Given the description of an element on the screen output the (x, y) to click on. 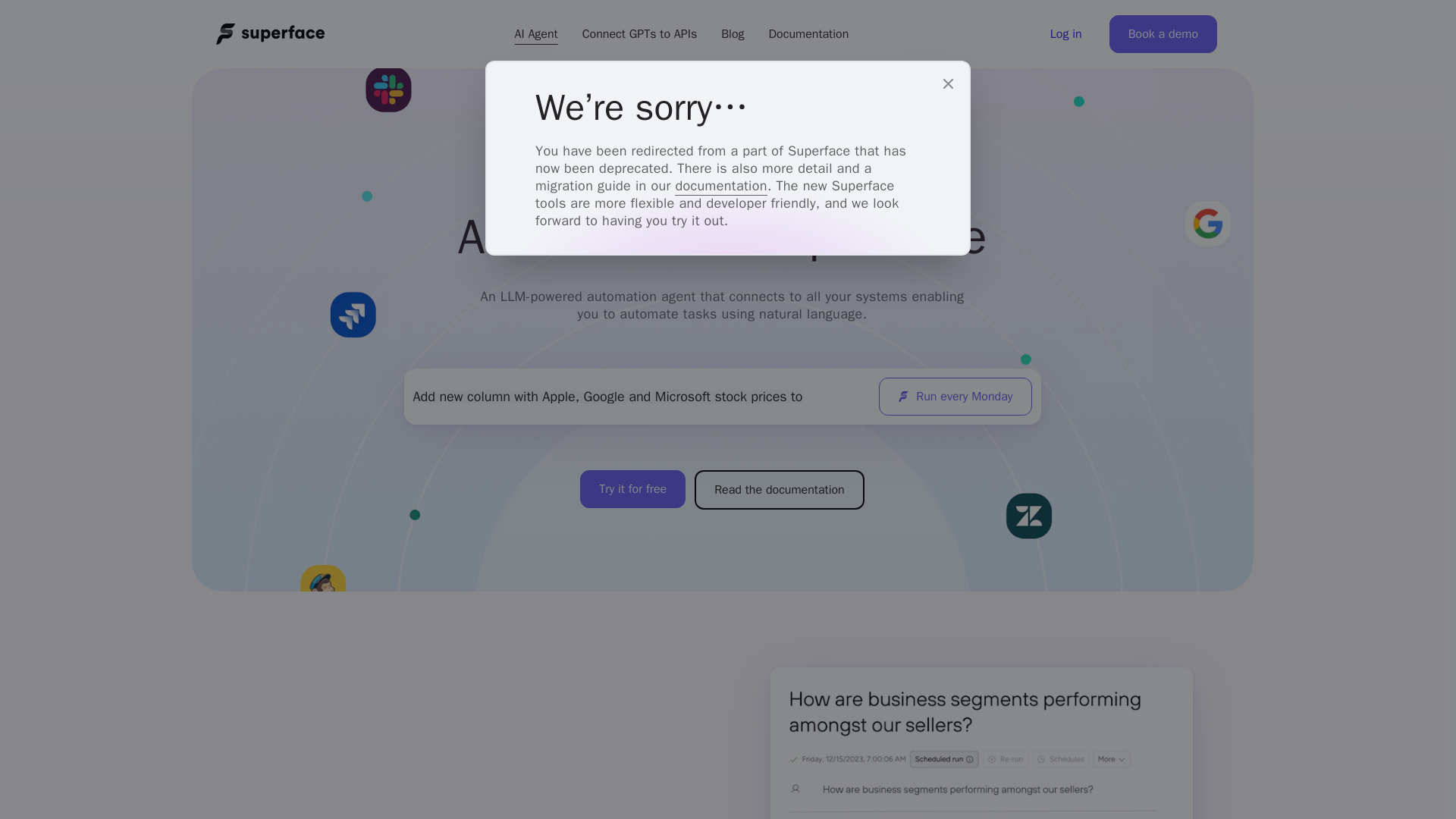
Try it for free (632, 488)
Documentation (809, 33)
Homepage (269, 34)
Connect GPTs to APIs (640, 33)
AI Agent (535, 33)
Blog (732, 33)
Run every Monday (954, 396)
Book a demo (1163, 34)
Read the documentation (779, 489)
Log in (1066, 33)
